Given the description of an element on the screen output the (x, y) to click on. 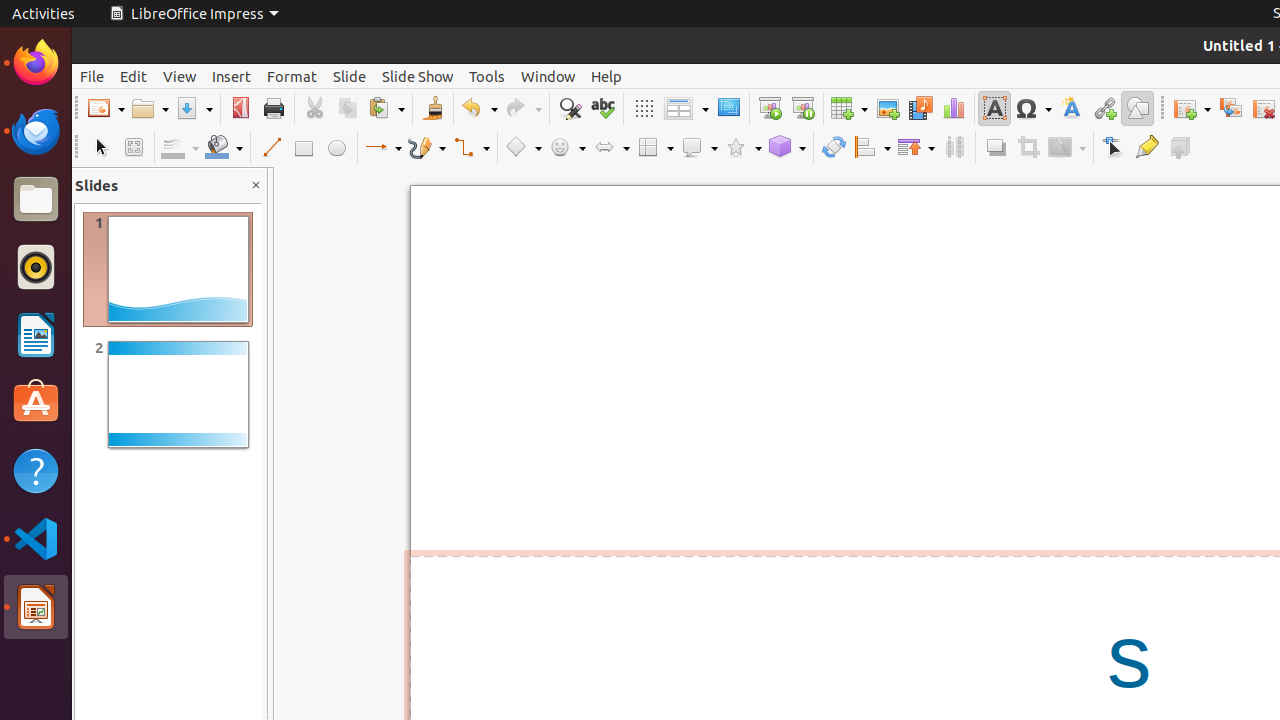
Window Element type: menu (548, 76)
Cut Element type: push-button (314, 108)
Glue Points Element type: push-button (1146, 147)
Copy Element type: push-button (347, 108)
Zoom & Pan Element type: push-button (133, 147)
